Given the description of an element on the screen output the (x, y) to click on. 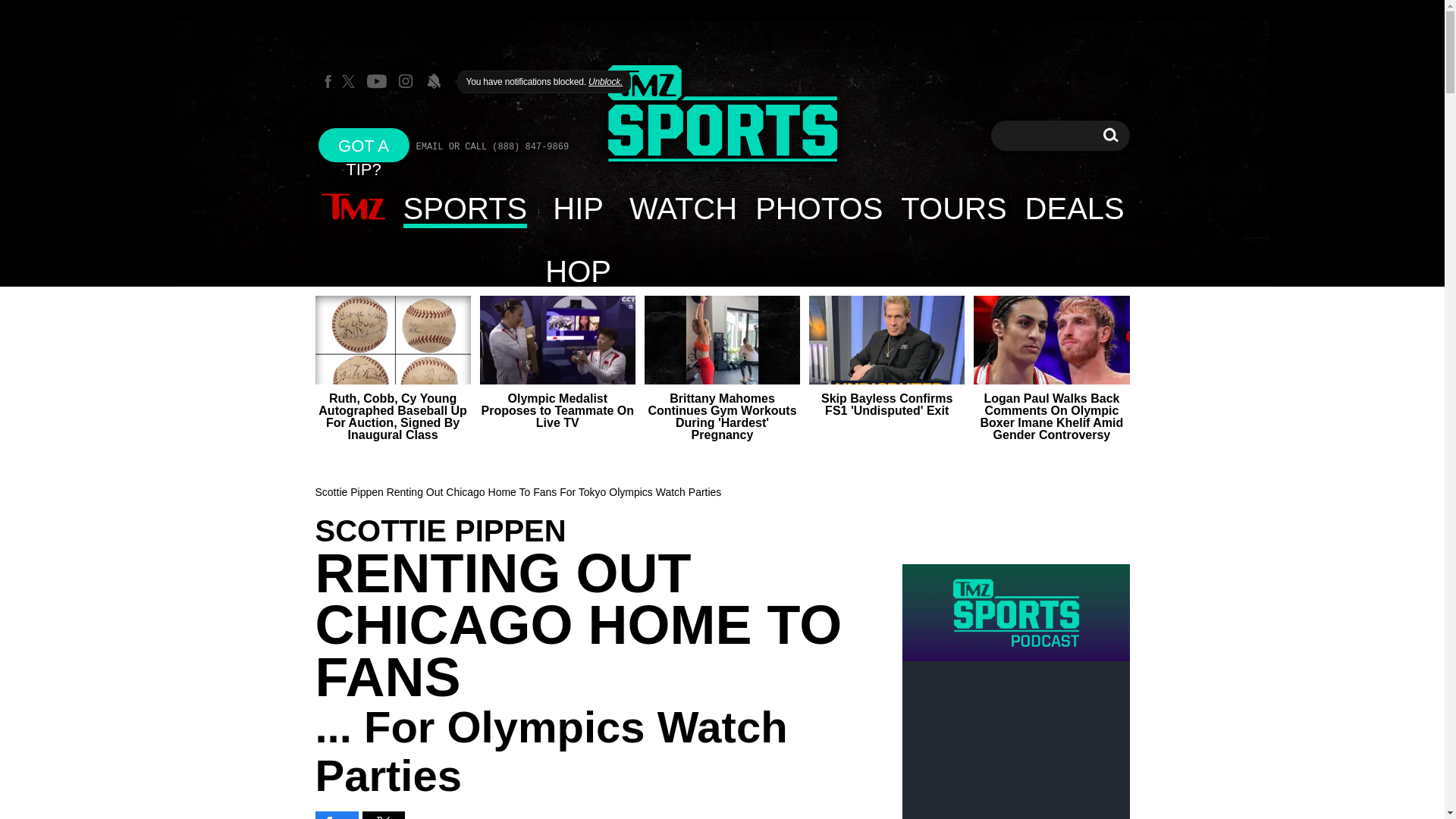
SPORTS (1110, 135)
TOURS (465, 207)
Skip to main content (952, 207)
HIP HOP (363, 144)
Search (577, 207)
WATCH (1110, 134)
NEWS (682, 207)
TMZ Sports (353, 207)
